Given the description of an element on the screen output the (x, y) to click on. 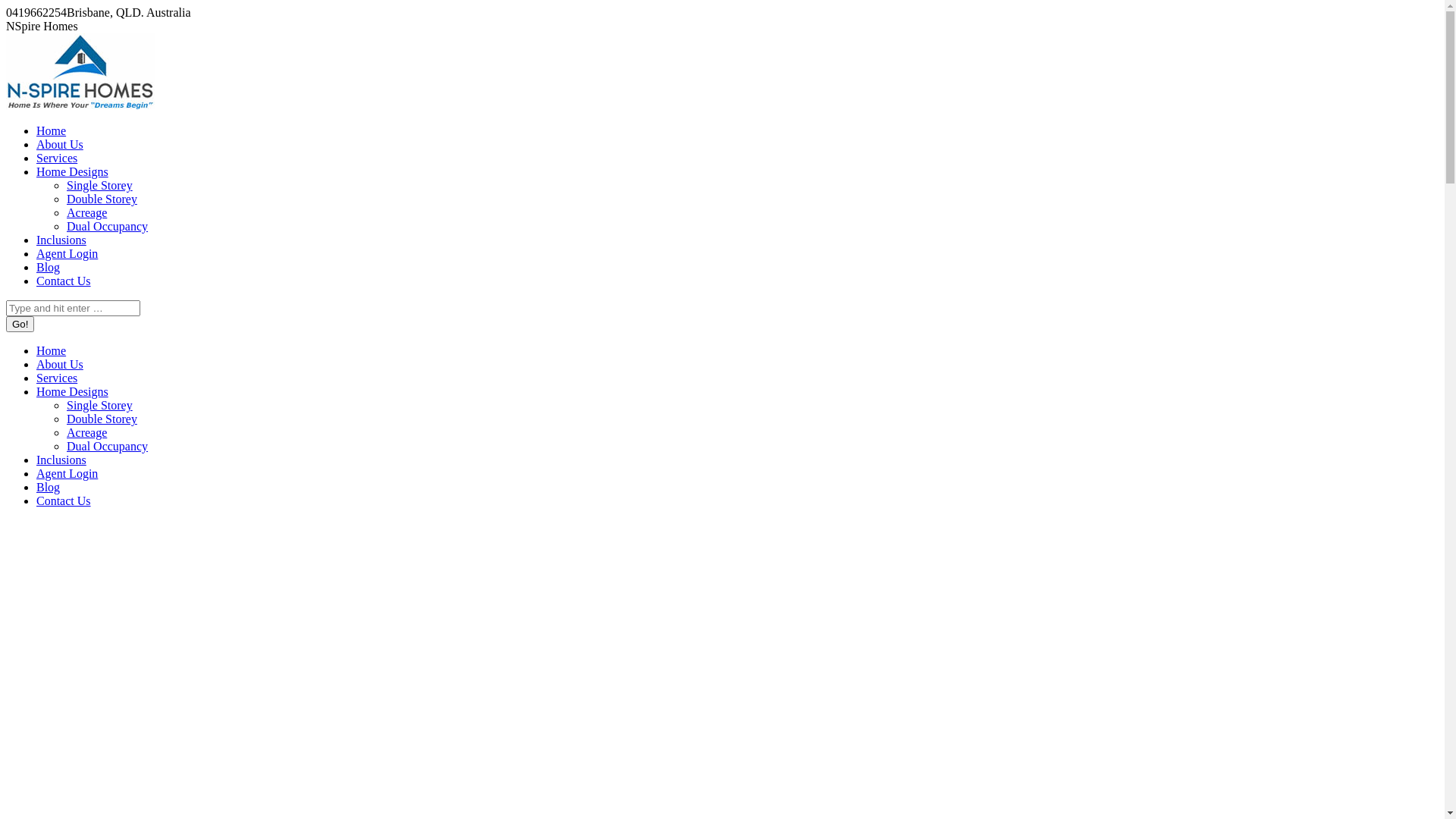
Services Element type: text (56, 157)
Agent Login Element type: text (66, 473)
Home Element type: text (50, 350)
Home Element type: text (50, 130)
Contact Us Element type: text (63, 500)
Single Storey Element type: text (99, 184)
Acreage Element type: text (86, 212)
Inclusions Element type: text (61, 459)
Acreage Element type: text (86, 432)
Blog Element type: text (47, 486)
About Us Element type: text (59, 363)
About Us Element type: text (59, 144)
Search form Element type: hover (73, 308)
Services Element type: text (56, 377)
Blog Element type: text (47, 266)
Single Storey Element type: text (99, 404)
Home Designs Element type: text (72, 171)
Dual Occupancy Element type: text (106, 445)
Double Storey Element type: text (101, 198)
Contact Us Element type: text (63, 280)
Double Storey Element type: text (101, 418)
Skip to content Element type: text (5, 5)
Agent Login Element type: text (66, 253)
Go! Element type: text (20, 324)
Dual Occupancy Element type: text (106, 225)
Home Designs Element type: text (72, 391)
Inclusions Element type: text (61, 239)
